Given the description of an element on the screen output the (x, y) to click on. 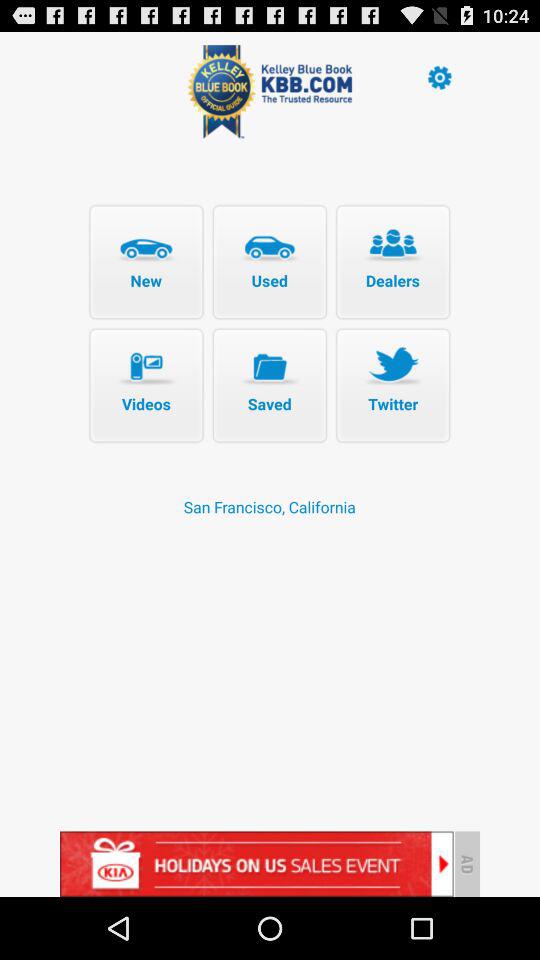
go to settings (439, 75)
